Given the description of an element on the screen output the (x, y) to click on. 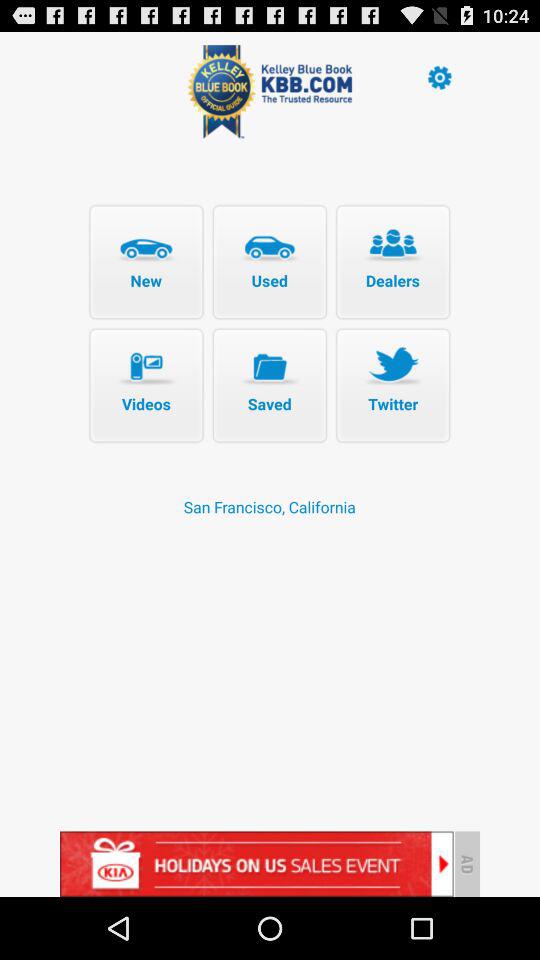
go to settings (439, 75)
